Given the description of an element on the screen output the (x, y) to click on. 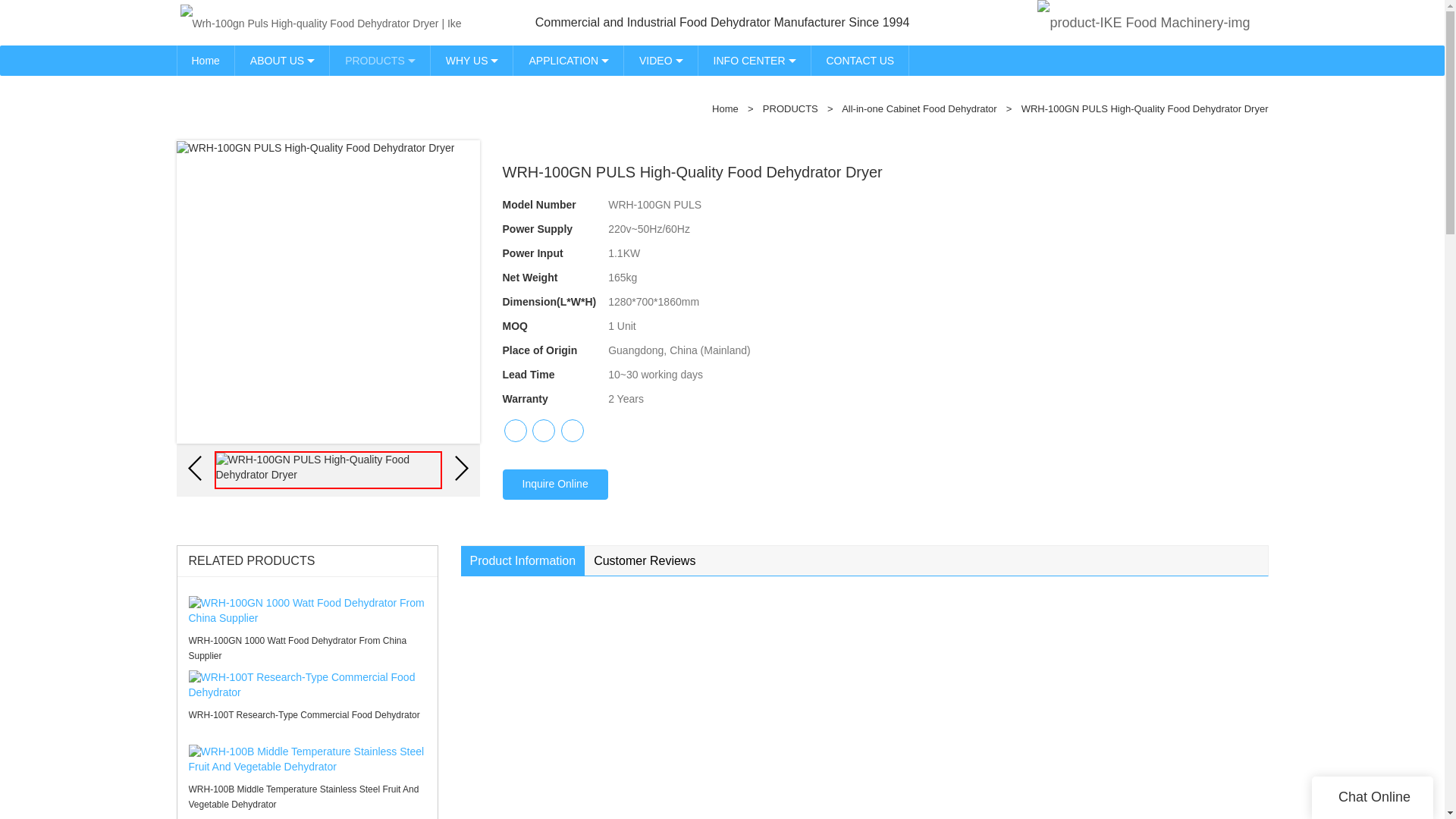
WHY US (471, 60)
YouTube video player (864, 714)
ABOUT US (282, 60)
APPLICATION (568, 60)
PRODUCTS (380, 60)
VIDEO (661, 60)
Home (205, 60)
